Given the description of an element on the screen output the (x, y) to click on. 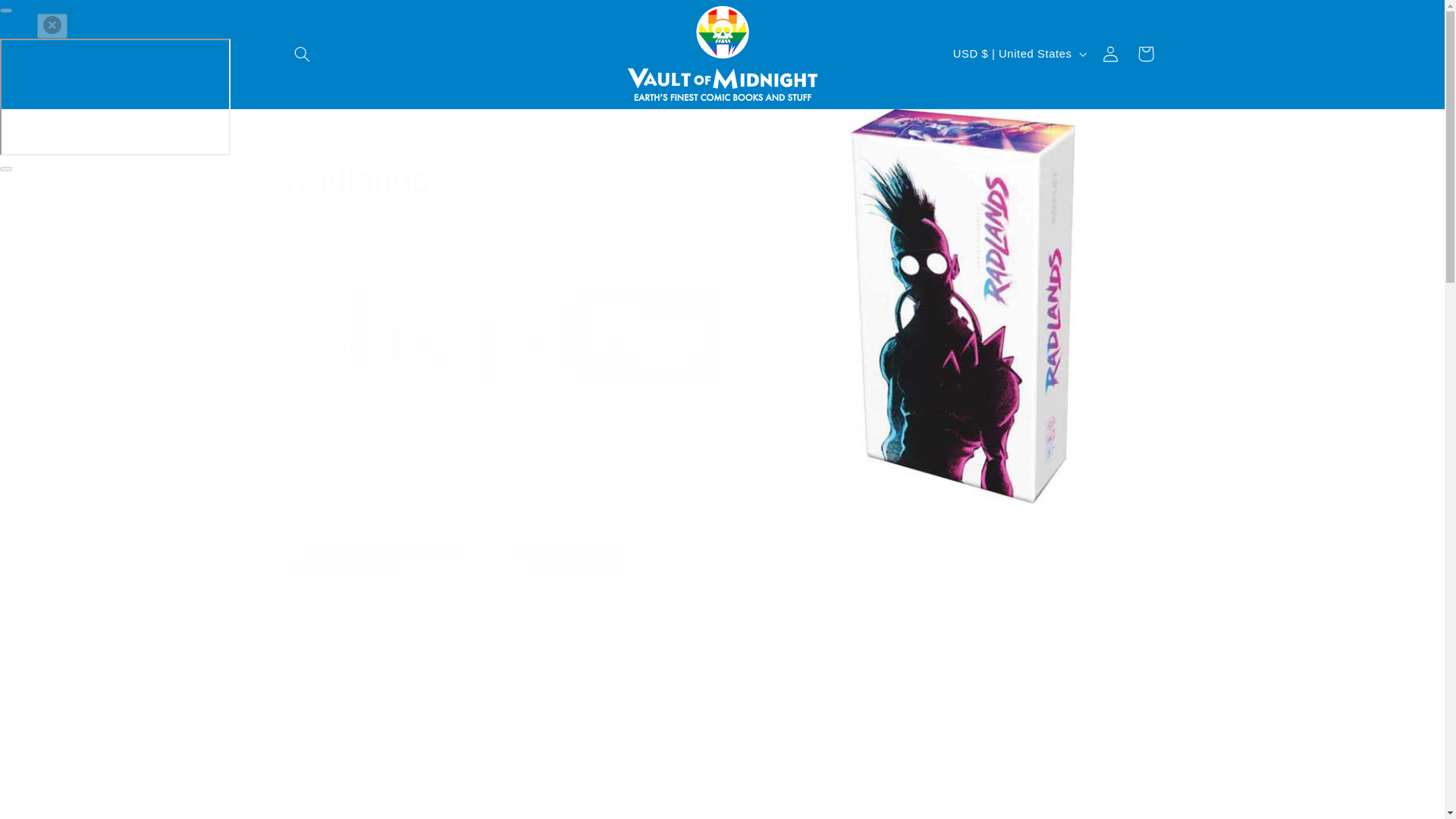
1 (337, 458)
Skip to content (48, 18)
Decrease quantity for Radlands (301, 458)
Add to cart (458, 516)
Cart (1145, 53)
Log in (1110, 53)
Increase quantity for Radlands (373, 458)
Shipping (304, 247)
Check availability at other stores (388, 689)
More payment options (458, 600)
